Given the description of an element on the screen output the (x, y) to click on. 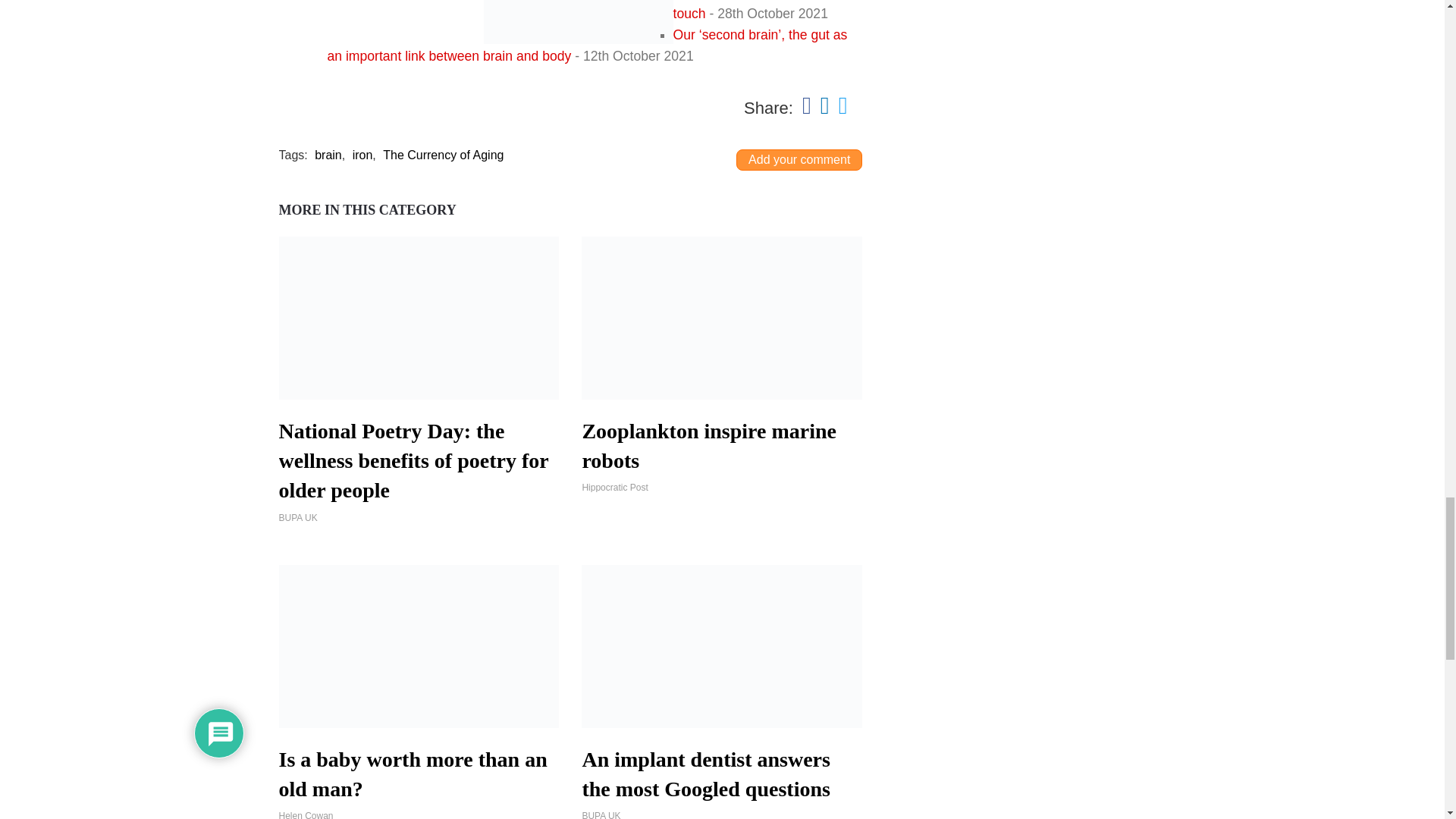
Share to FaceBook (806, 104)
